Given the description of an element on the screen output the (x, y) to click on. 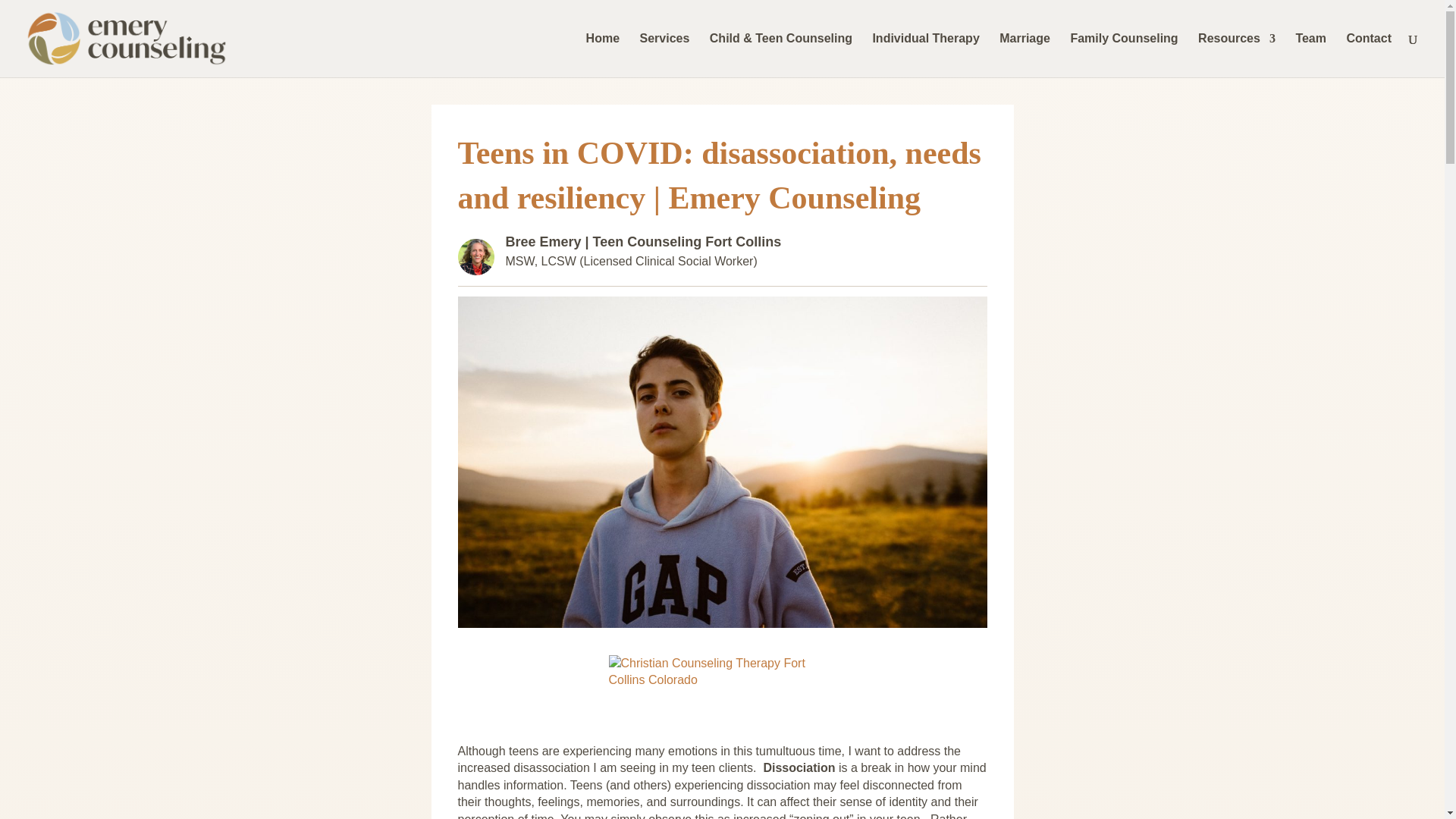
Family Counseling (1123, 54)
Contact (1368, 54)
Resources (1236, 54)
Individual Therapy (925, 54)
Services (665, 54)
Marriage (1023, 54)
